Given the description of an element on the screen output the (x, y) to click on. 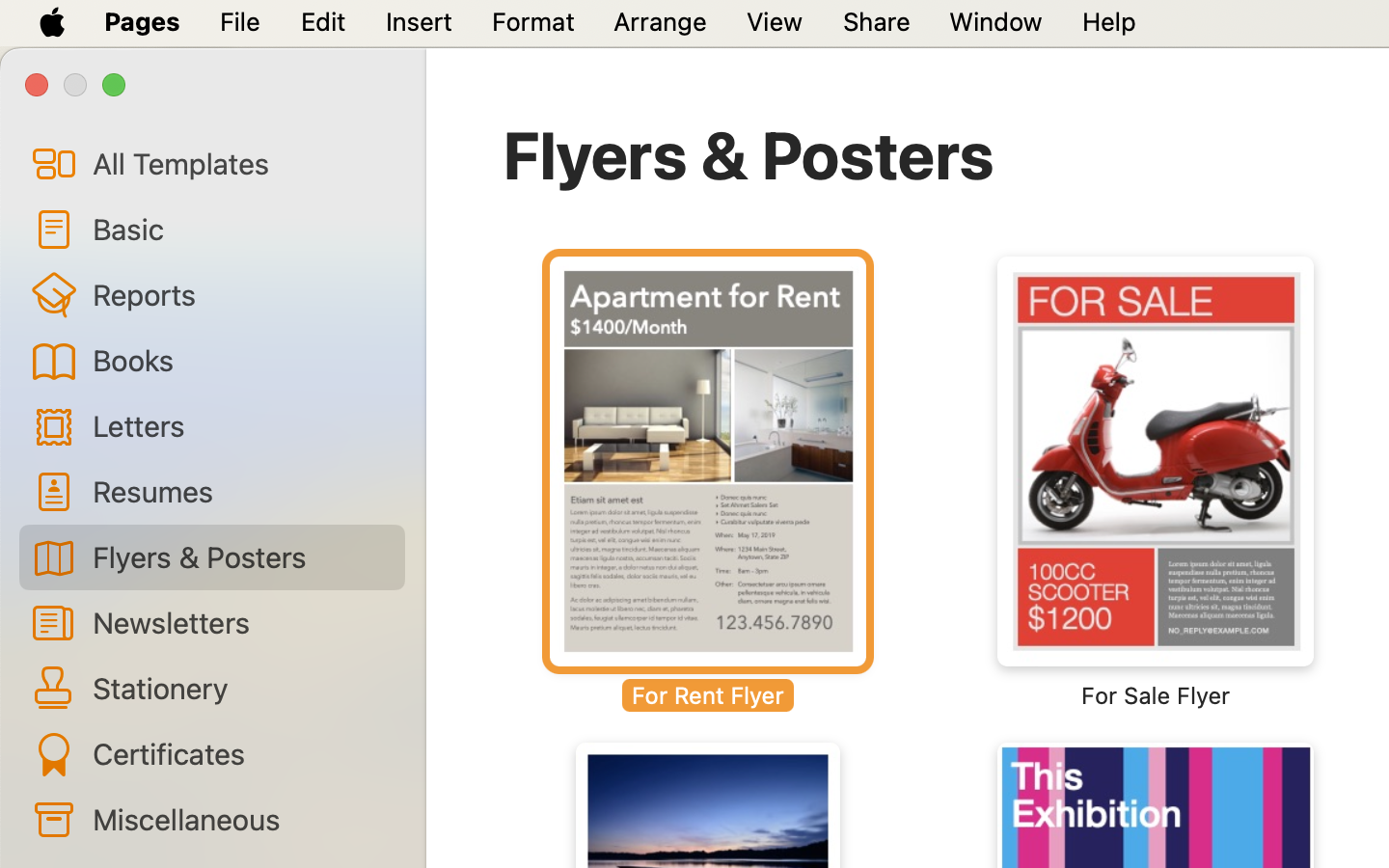
Letters Element type: AXStaticText (240, 424)
Newsletters Element type: AXStaticText (240, 621)
All Templates Element type: AXStaticText (240, 162)
Flyers & Posters Element type: AXStaticText (749, 153)
‎⁨For Sale Flyer⁩ Element type: AXButton (1155, 483)
